Given the description of an element on the screen output the (x, y) to click on. 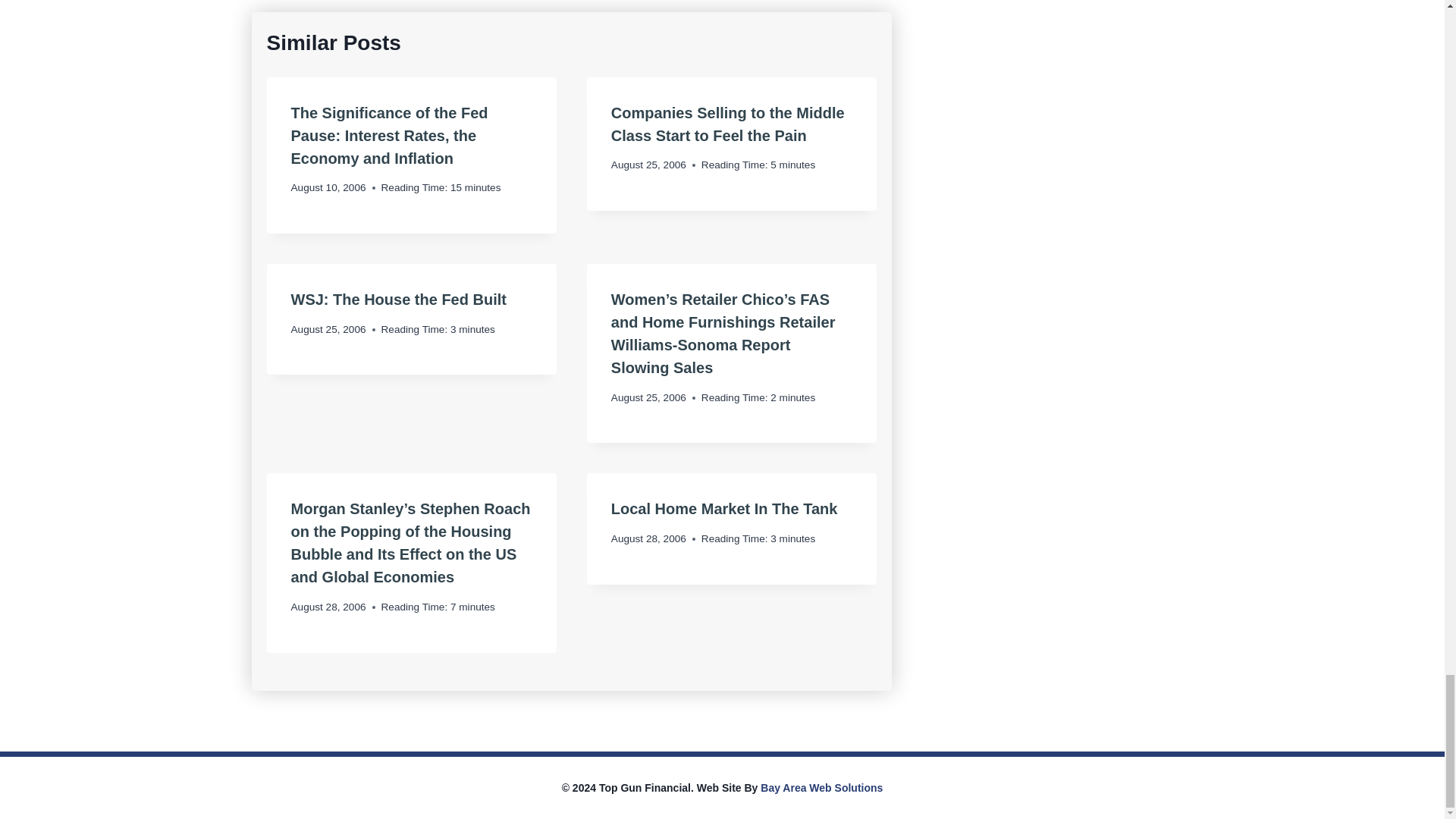
WSJ: The House the Fed Built (398, 299)
Companies Selling to the Middle Class Start to Feel the Pain (727, 124)
